Given the description of an element on the screen output the (x, y) to click on. 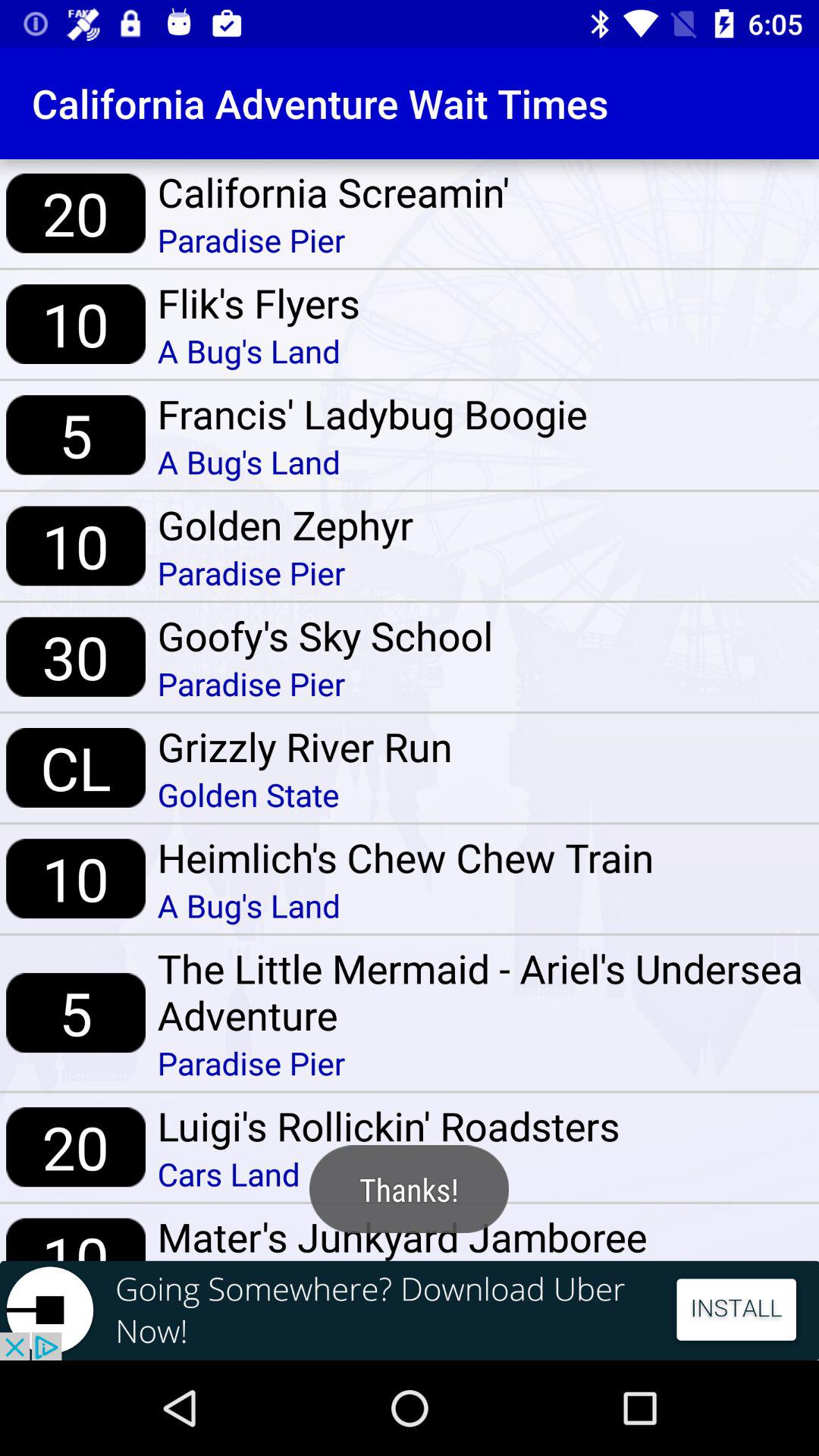
choose the icon below the 10 (409, 1310)
